Given the description of an element on the screen output the (x, y) to click on. 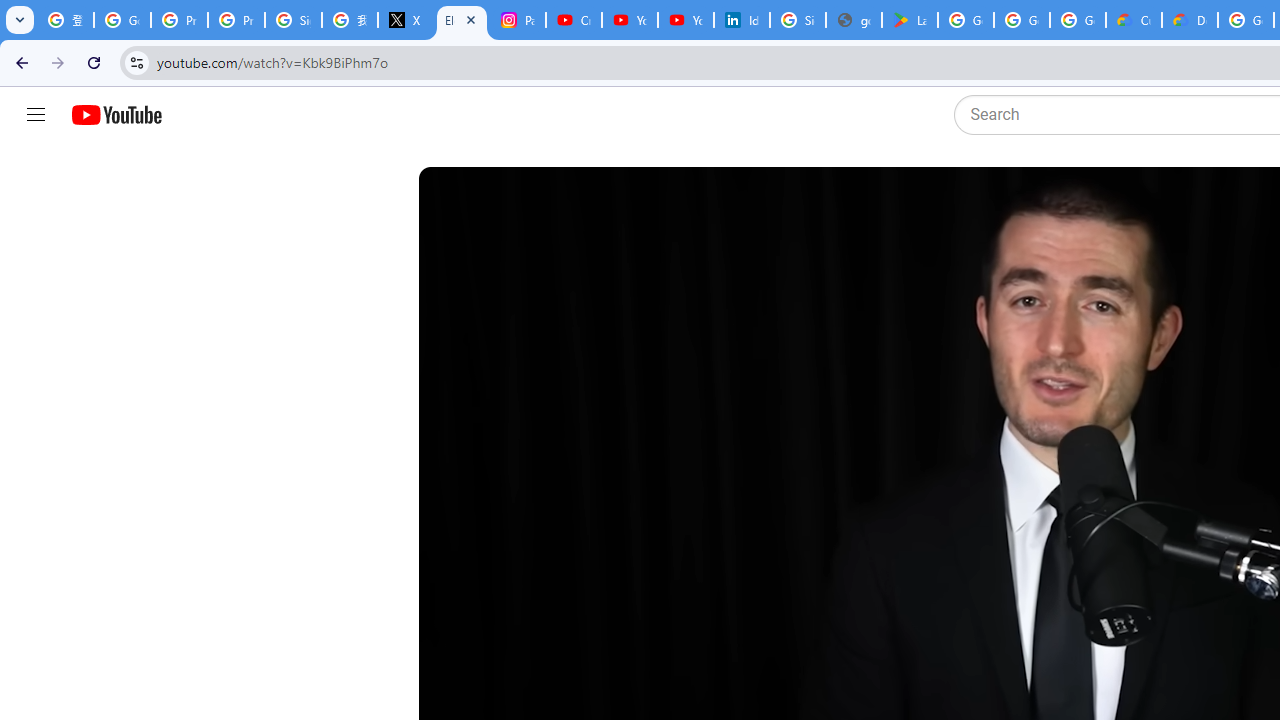
YouTube Home (116, 115)
